Given the description of an element on the screen output the (x, y) to click on. 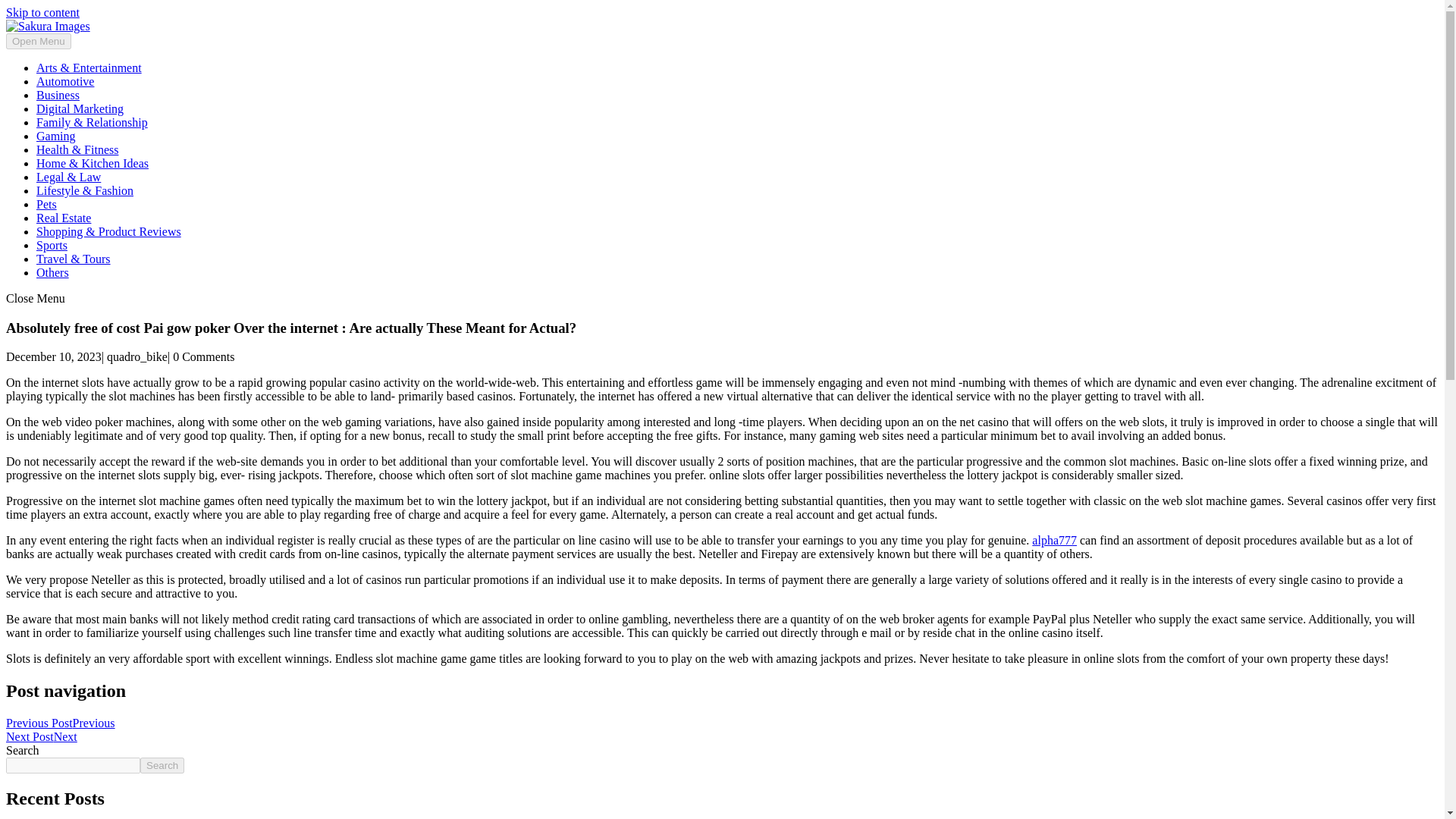
Next PostNext (41, 736)
Sports (51, 245)
Business (58, 94)
Pets (46, 204)
Close Menu (35, 297)
alpha777 (1054, 540)
Others (52, 272)
Skip to content (42, 11)
Automotive (65, 81)
Search (161, 765)
